Given the description of an element on the screen output the (x, y) to click on. 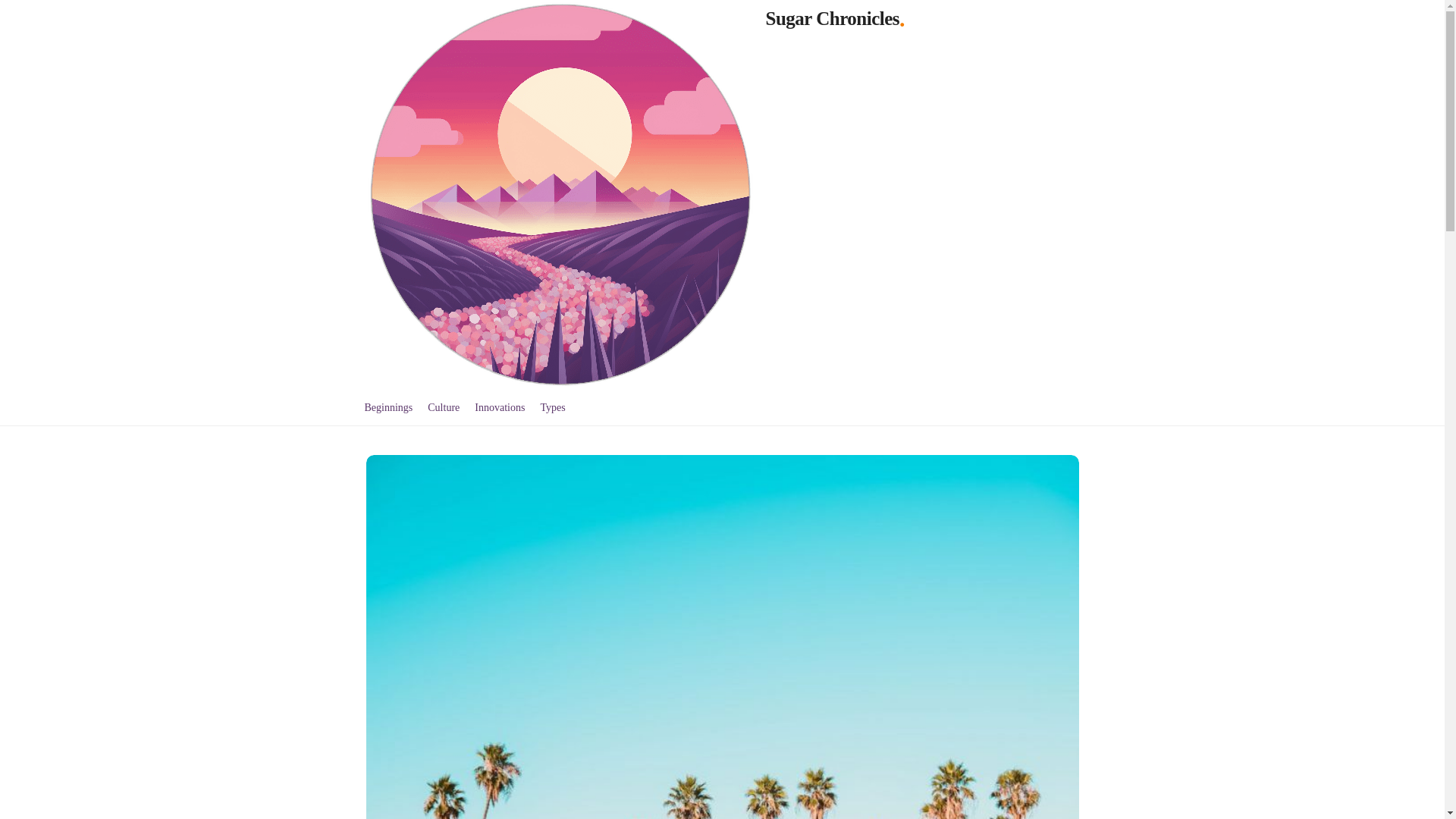
Sugar Chronicles (832, 18)
Types (552, 406)
Sugar Chronicles (832, 18)
Culture (443, 406)
Beginnings (388, 406)
Innovations (499, 406)
